Given the description of an element on the screen output the (x, y) to click on. 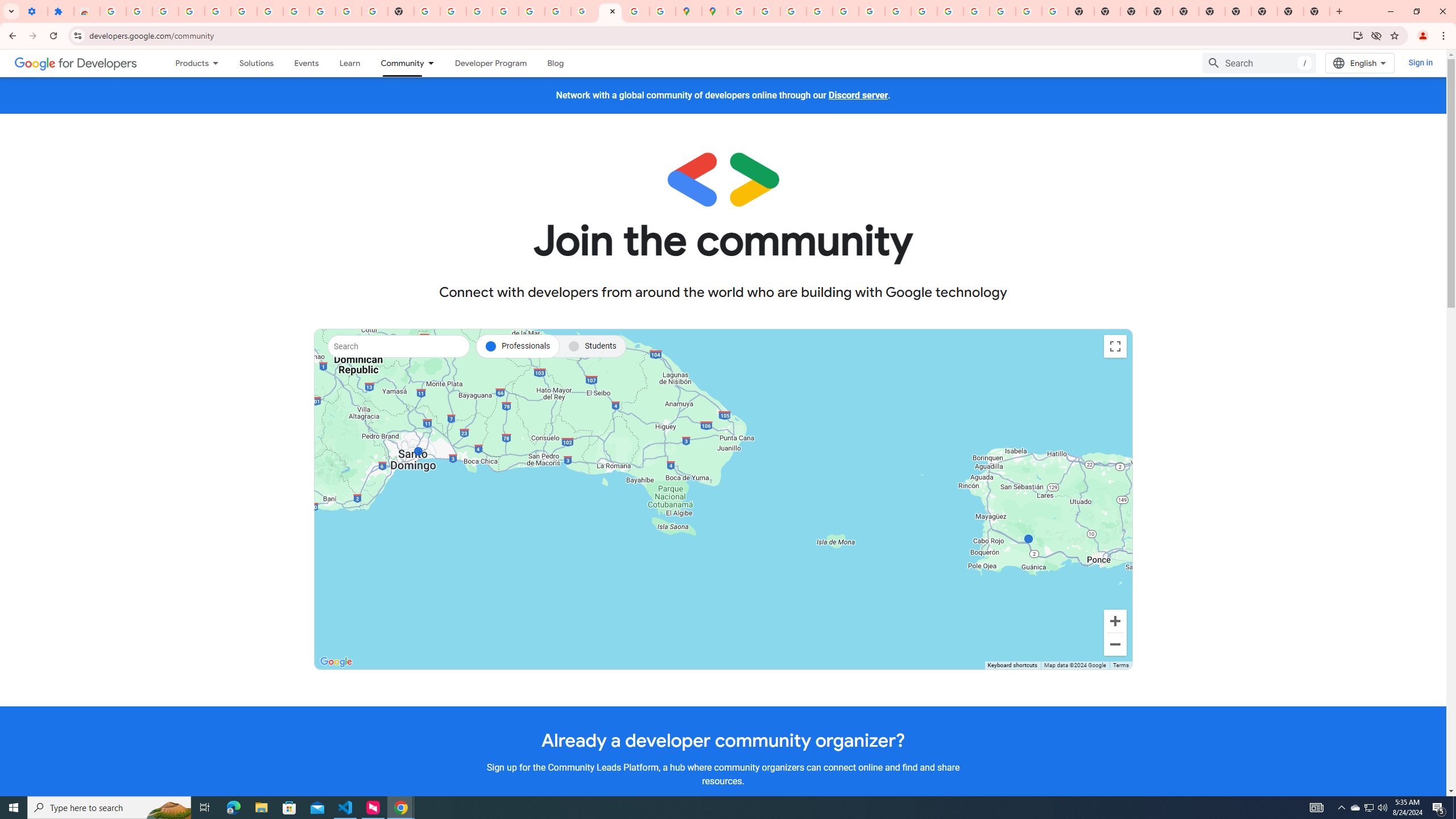
Solutions (255, 62)
Reviews: Helix Fruit Jump Arcade Game (86, 11)
New Tab (1159, 11)
Dropdown menu for Products (219, 62)
Sign in - Google Accounts (112, 11)
YouTube (897, 11)
